Given the description of an element on the screen output the (x, y) to click on. 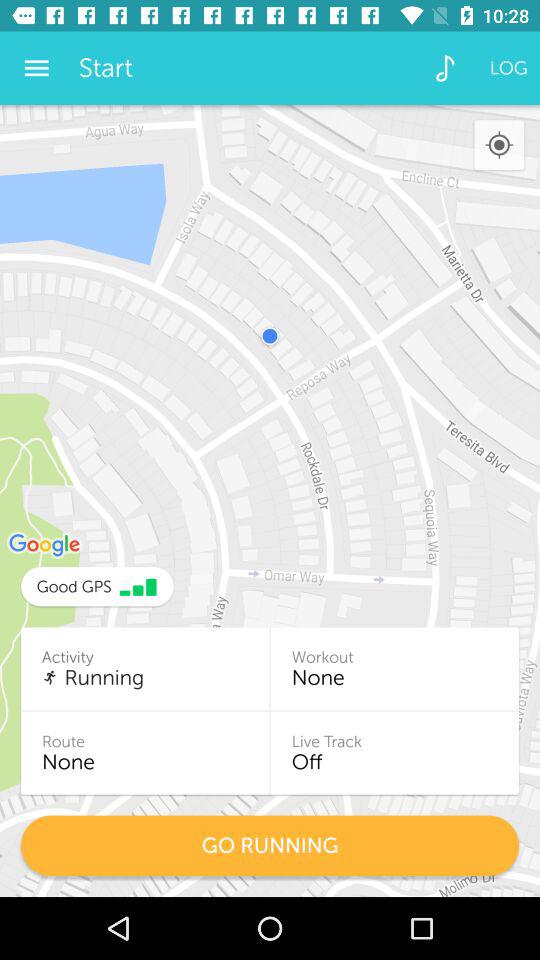
press icon to the left of log (444, 67)
